Given the description of an element on the screen output the (x, y) to click on. 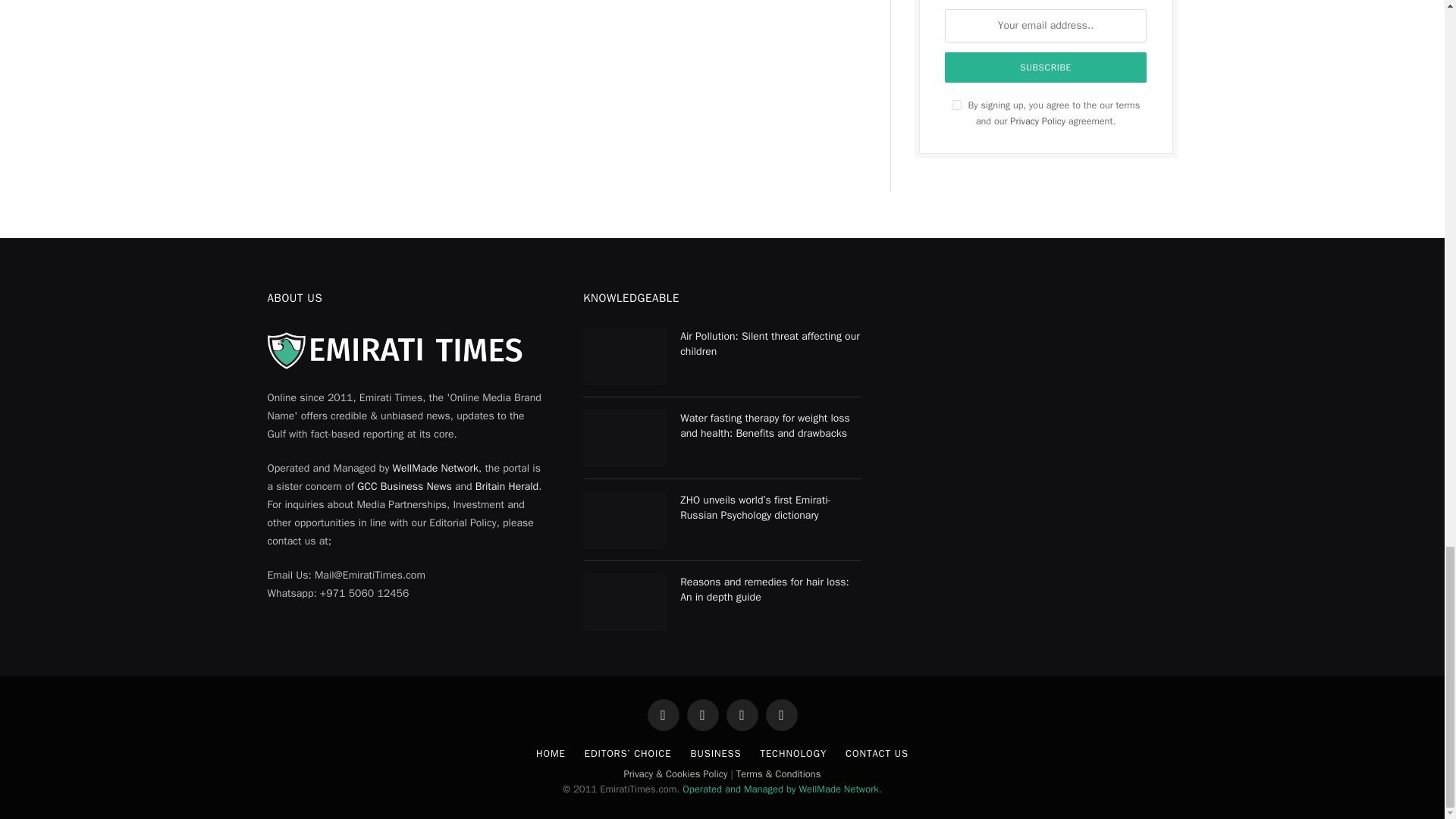
on (956, 104)
Subscribe (1045, 67)
